Given the description of an element on the screen output the (x, y) to click on. 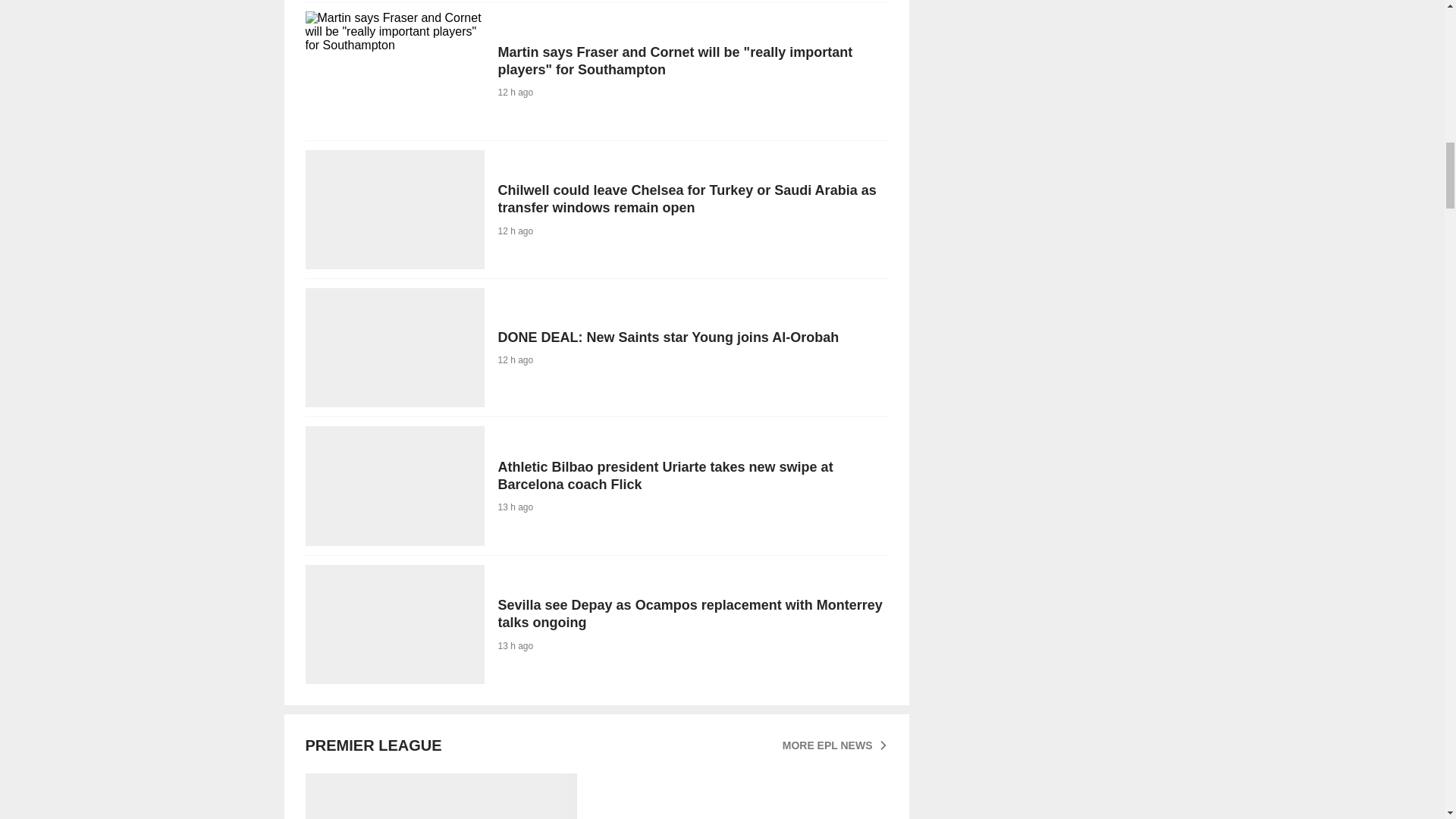
MORE EPL NEWS (835, 745)
